Given the description of an element on the screen output the (x, y) to click on. 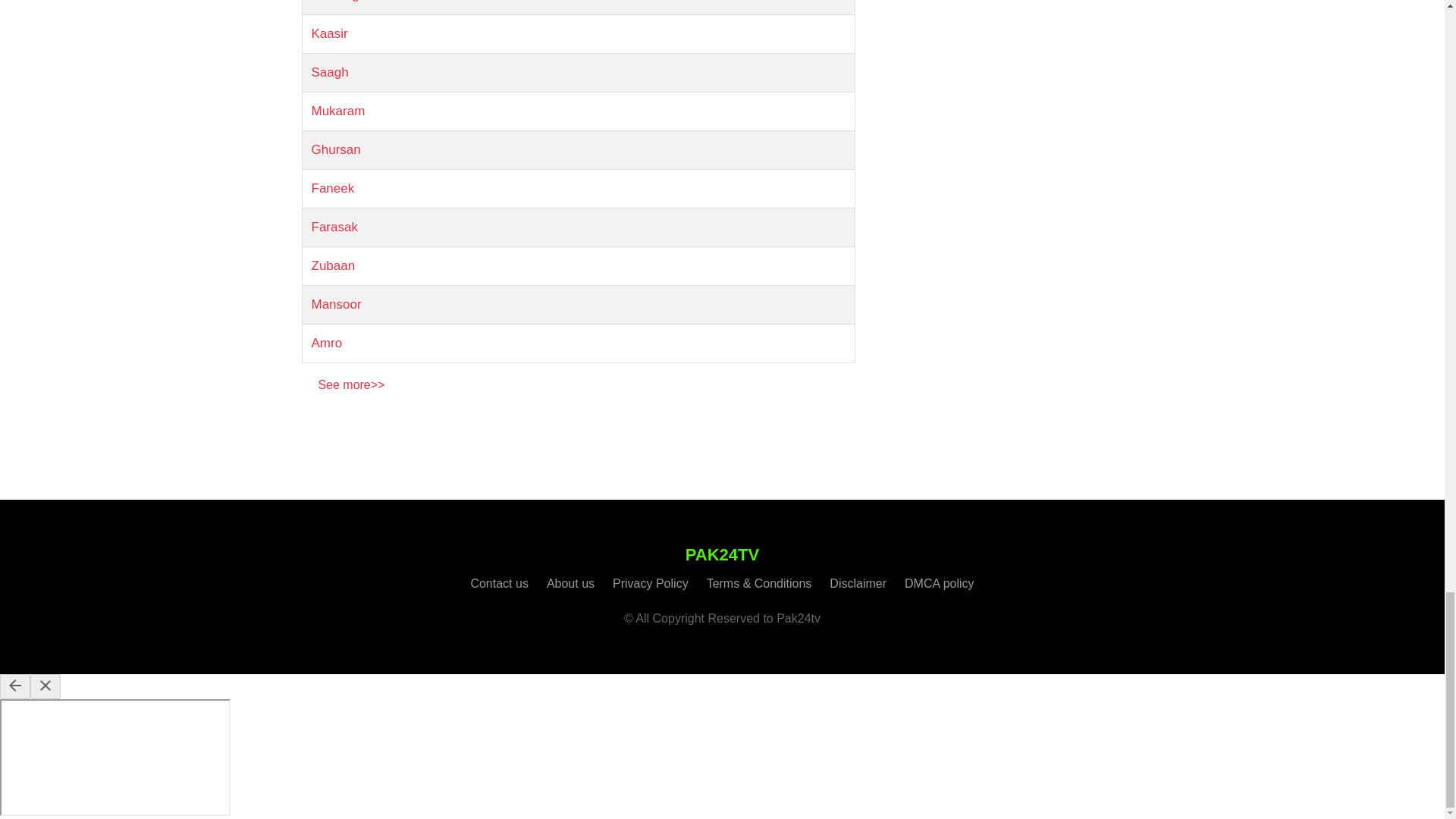
DMCA policy (939, 583)
Saagh (329, 72)
Disclaimer (857, 583)
Arzhang (334, 1)
Zubaan (333, 265)
Mansoor (336, 304)
Farasak (333, 227)
Privacy Policy (650, 583)
Mukaram (338, 110)
Faneek (332, 187)
Amro (326, 342)
Kaasir (329, 33)
Ghursan (335, 149)
Contact us (498, 583)
About us (570, 583)
